Given the description of an element on the screen output the (x, y) to click on. 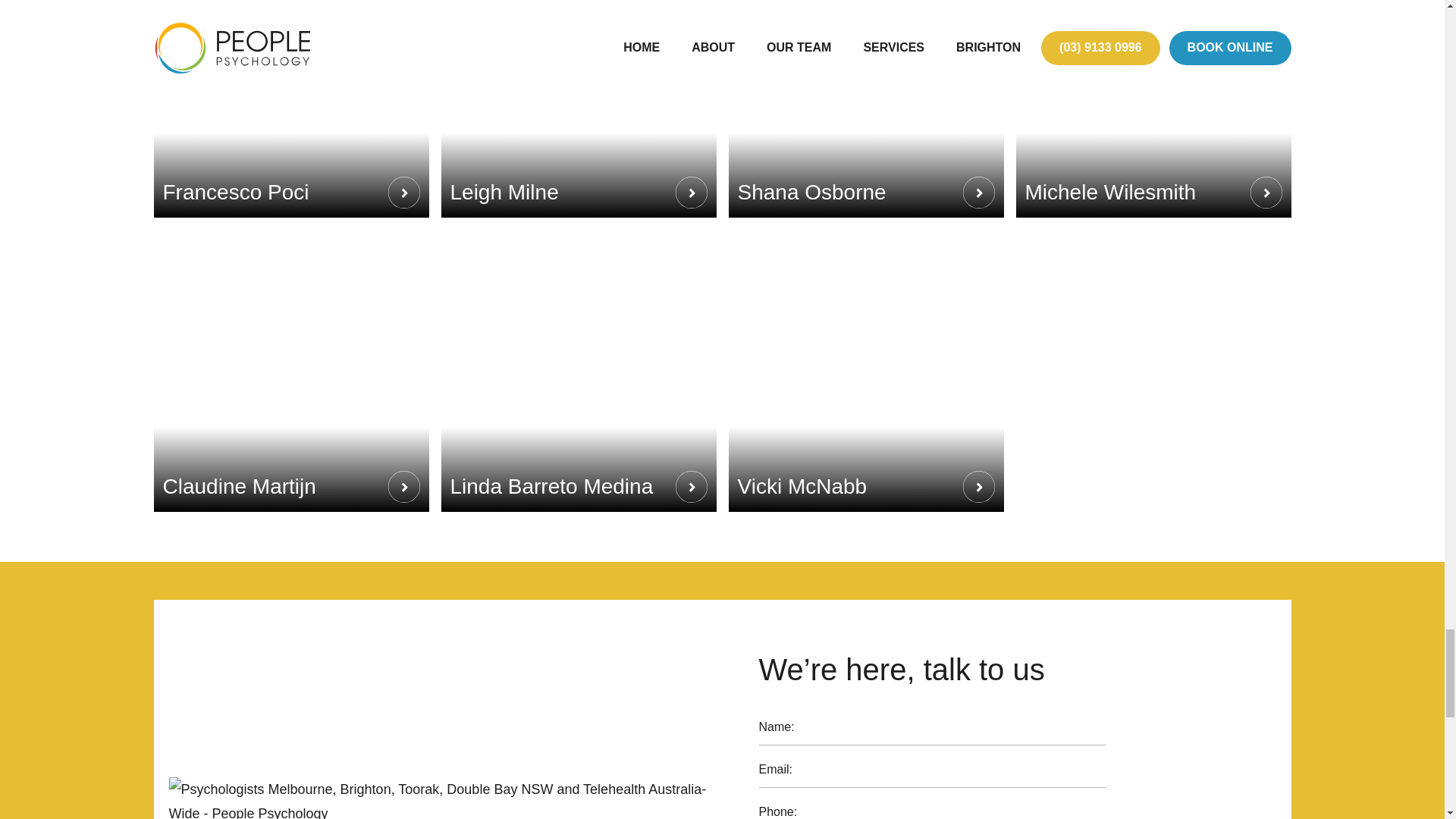
Claudine Martijn (290, 370)
Shana Osborne (865, 108)
Francesco Poci (290, 108)
Linda Barreto Medina (578, 370)
Michele Wilesmith (1153, 108)
Vicki McNabb (865, 370)
Leigh Milne (578, 108)
